Given the description of an element on the screen output the (x, y) to click on. 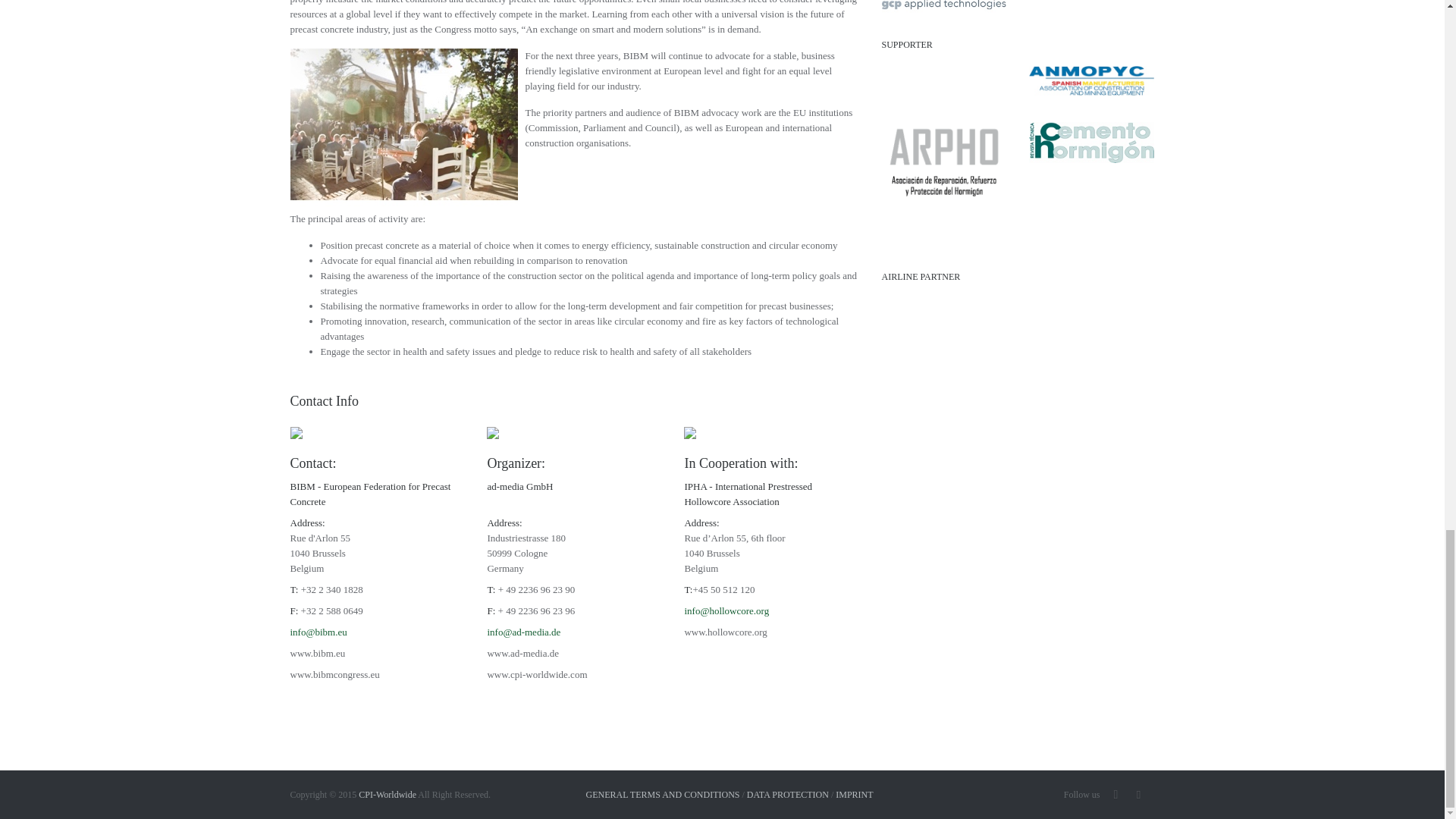
www.hollowcore.org (725, 632)
www.ad-media.de (521, 653)
CPI Worldwide (387, 794)
www.cpi-worldwide.com (536, 674)
www.bibm.eu (317, 653)
www.bibmcongress.eu (333, 674)
